Given the description of an element on the screen output the (x, y) to click on. 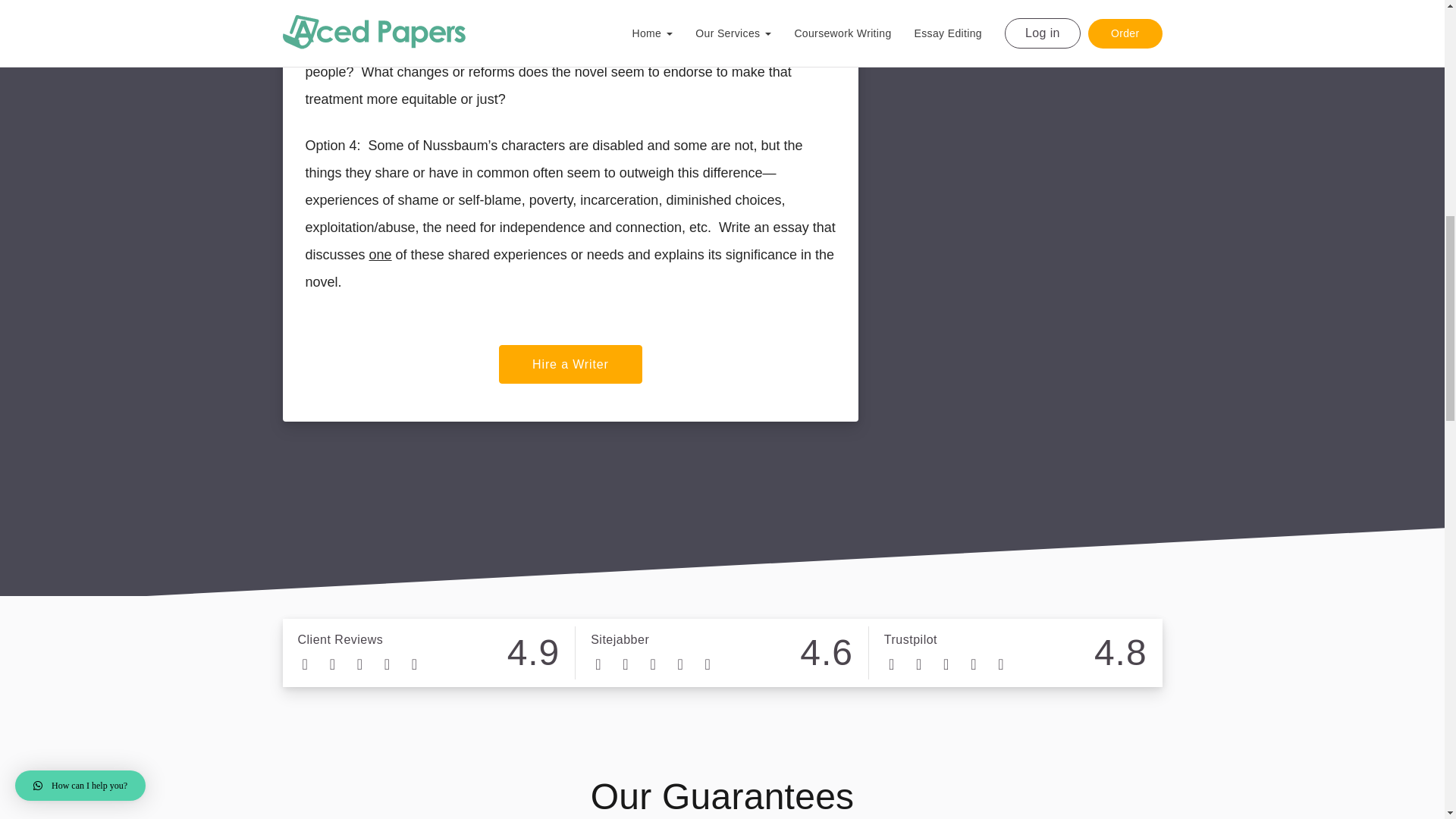
Hire a Writer (570, 364)
